Given the description of an element on the screen output the (x, y) to click on. 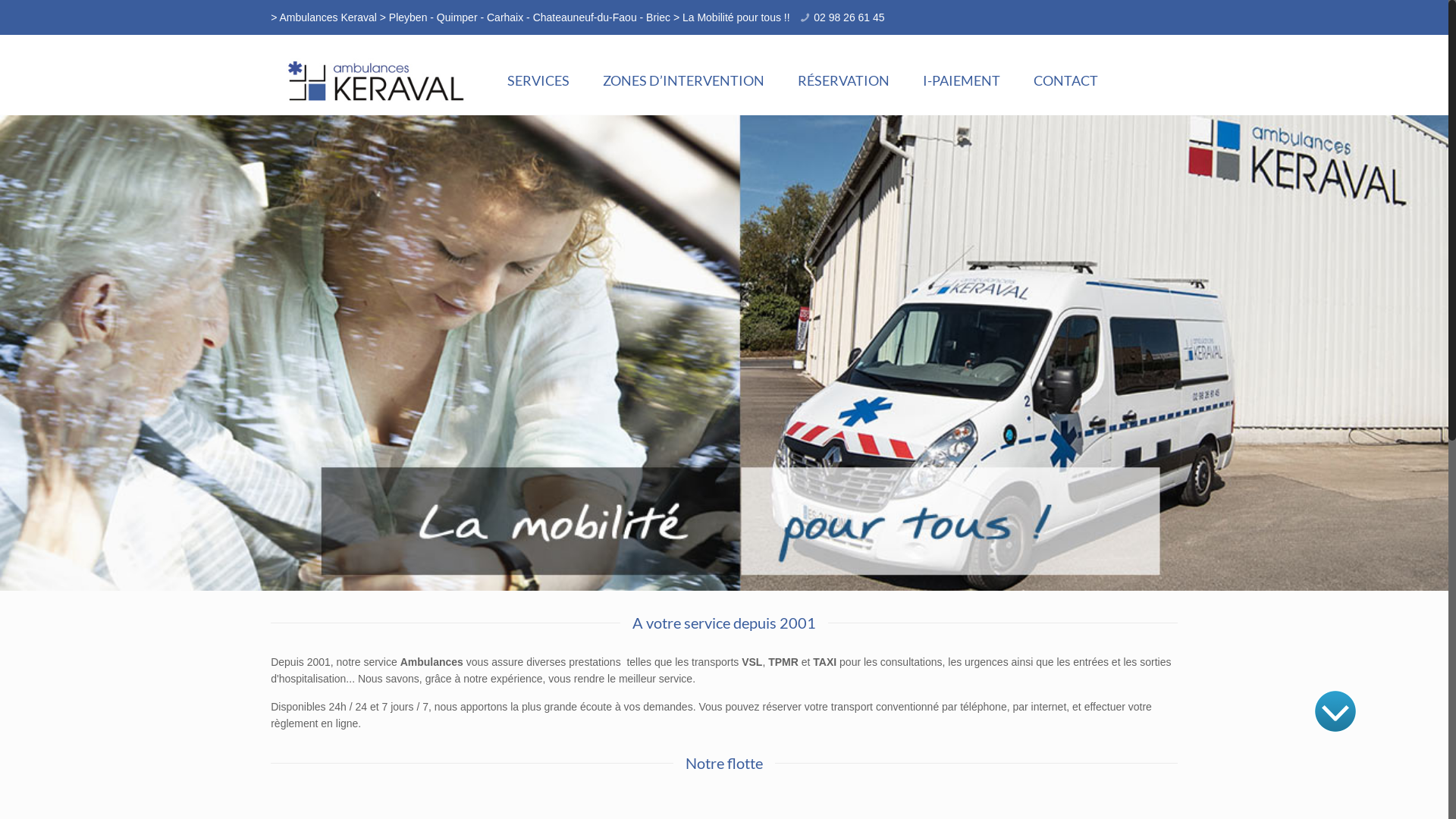
SERVICES Element type: text (538, 80)
02 98 26 61 45 Element type: text (848, 17)
CONTACT Element type: text (1065, 80)
I-PAIEMENT Element type: text (961, 80)
Ambulances Keraval Element type: hover (376, 80)
